Given the description of an element on the screen output the (x, y) to click on. 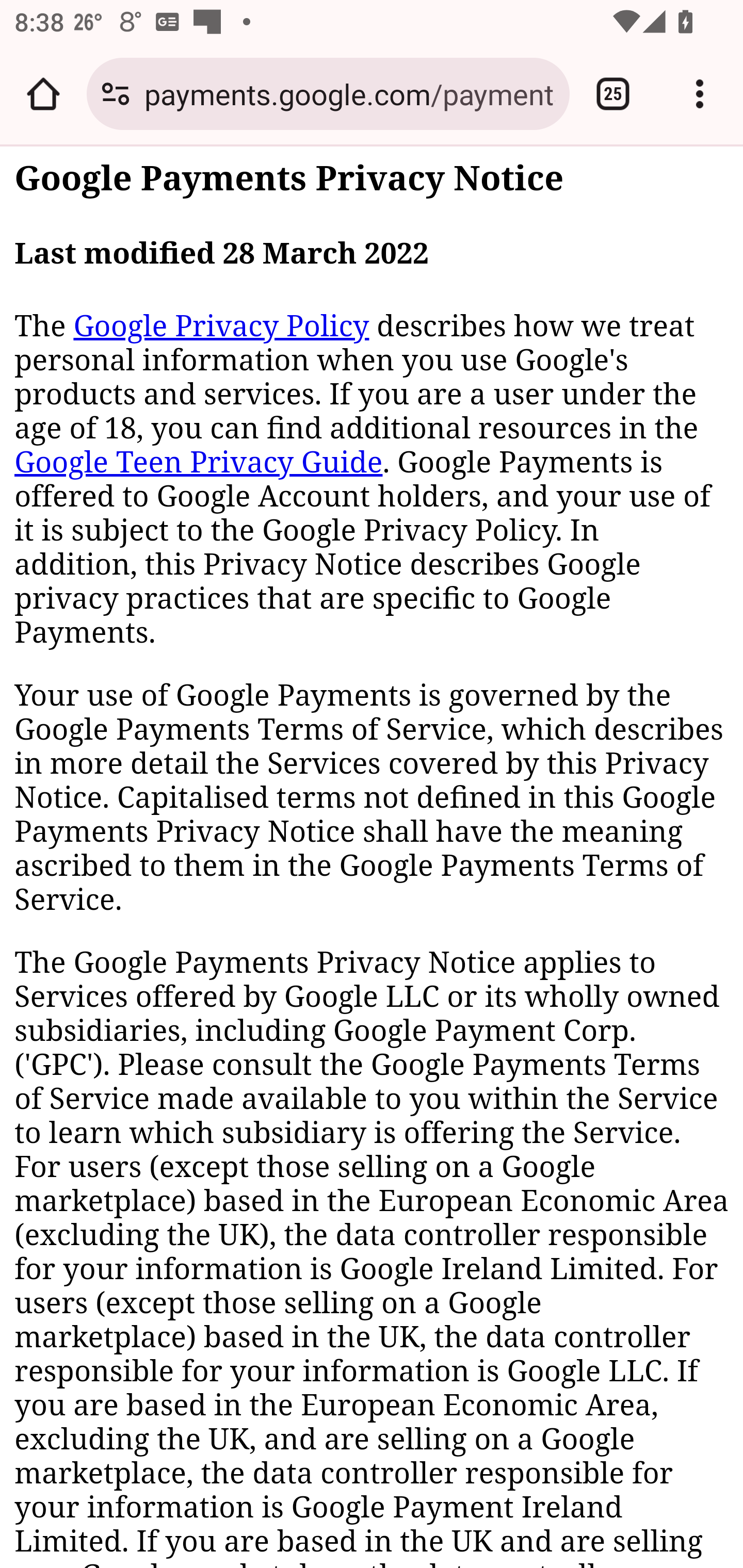
Open the home page (43, 93)
Connection is secure (115, 93)
Switch or close tabs (612, 93)
Customize and control Google Chrome (699, 93)
Google Privacy Policy (221, 326)
Google Teen Privacy Guide (199, 461)
